Given the description of an element on the screen output the (x, y) to click on. 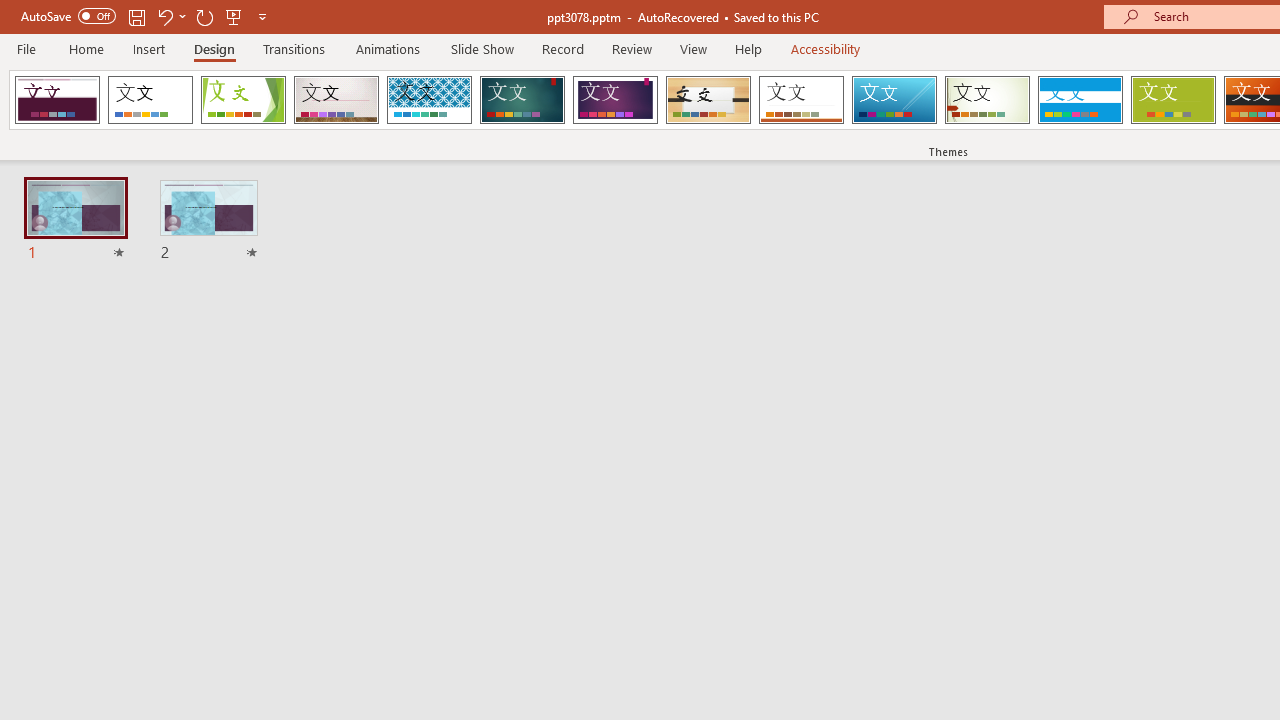
Droplet (57, 100)
Organic (708, 100)
Ion Boardroom (615, 100)
Retrospect (801, 100)
